Given the description of an element on the screen output the (x, y) to click on. 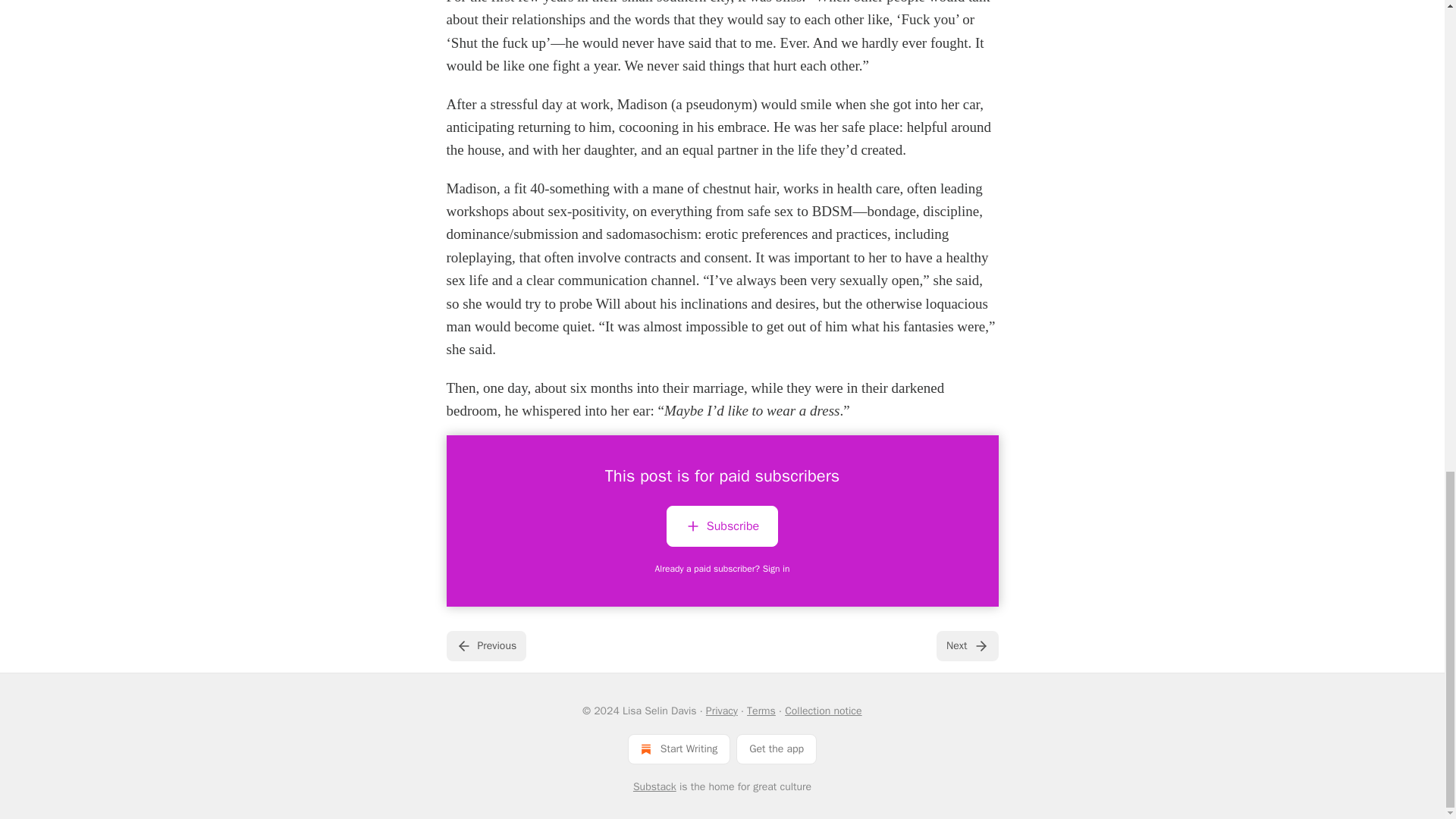
Subscribe (721, 526)
Next (966, 645)
Terms (761, 710)
Subscribe (721, 529)
Start Writing (678, 748)
Already a paid subscriber? Sign in (722, 568)
Substack (655, 786)
Collection notice (822, 710)
Get the app (776, 748)
Previous (485, 645)
Privacy (722, 710)
